Given the description of an element on the screen output the (x, y) to click on. 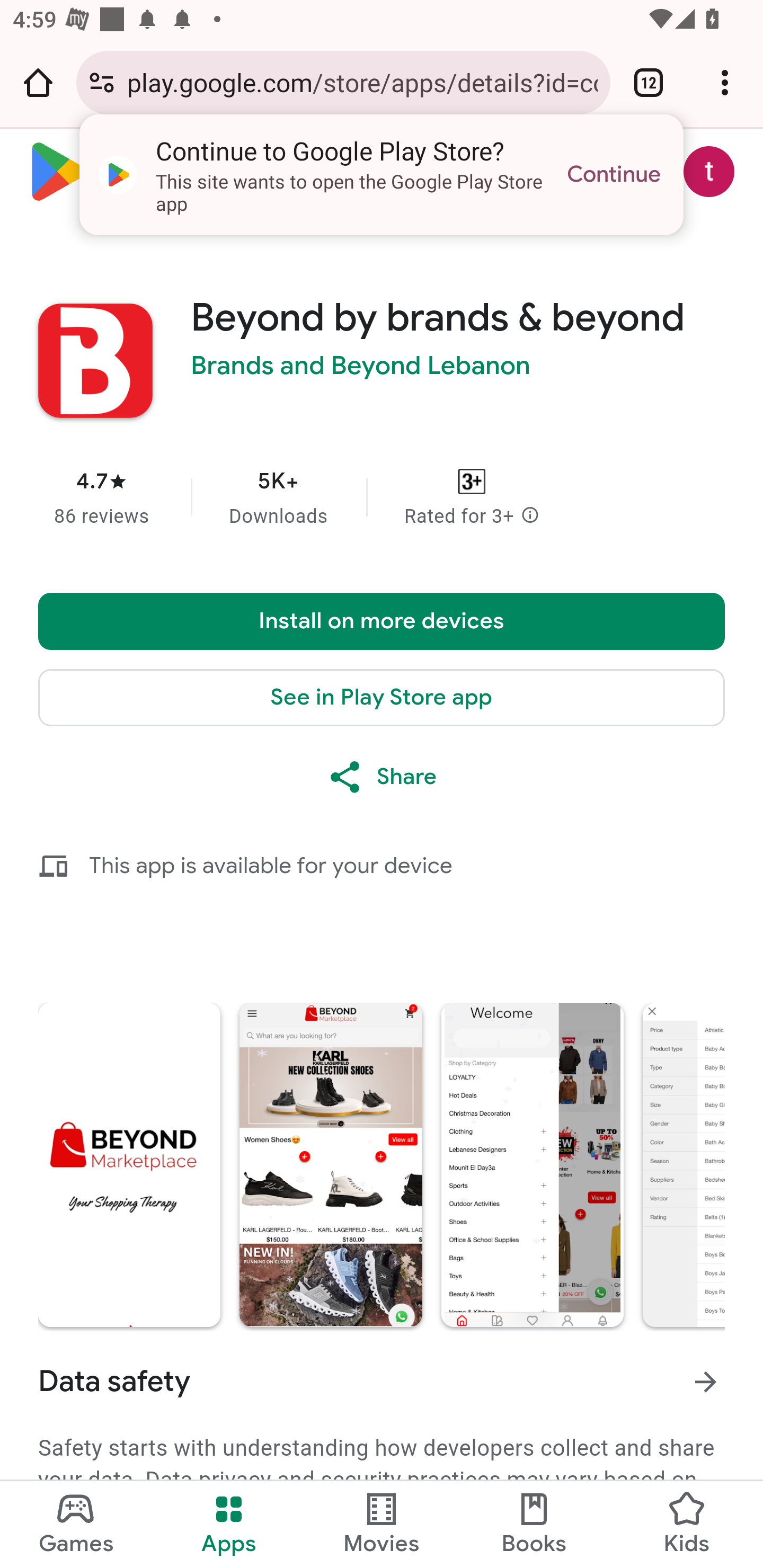
Open the home page (38, 82)
Connection is secure (101, 82)
Switch or close tabs (648, 82)
Customize and control Google Chrome (724, 82)
Continue (613, 174)
Google Play logo (158, 171)
Brands and Beyond Lebanon (360, 365)
More info about this content rating (529, 515)
Install on more devices (381, 621)
See in Play Store app (381, 697)
Share (381, 776)
Screenshot image (129, 1164)
Screenshot image (330, 1164)
Screenshot image (532, 1164)
See more information on Data safety (705, 1381)
Games (76, 1524)
Apps (228, 1524)
Movies (381, 1524)
Books (533, 1524)
Kids (686, 1524)
